Given the description of an element on the screen output the (x, y) to click on. 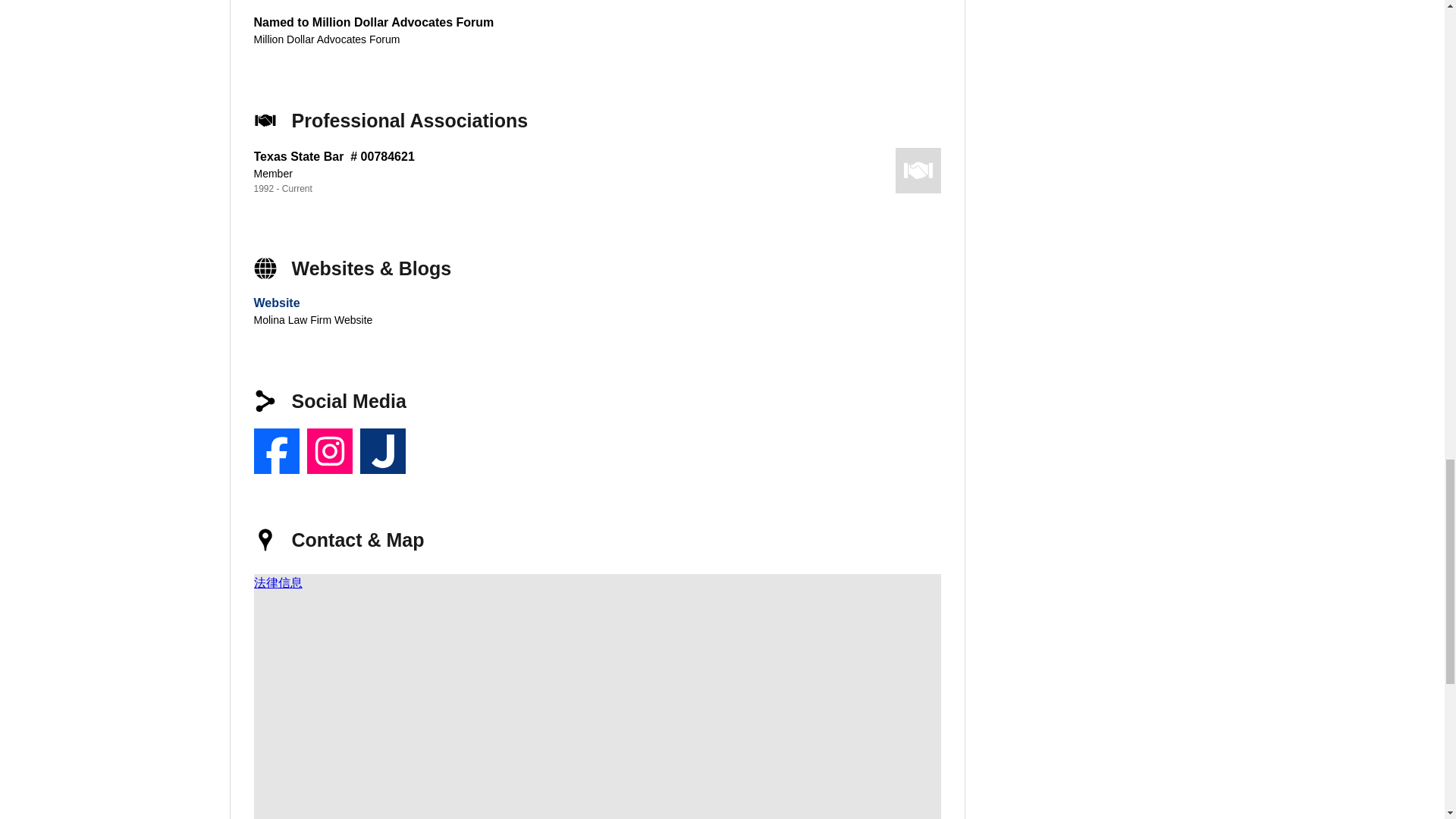
Instagram (328, 451)
Facebook (275, 451)
 Justia Profile (381, 451)
Justia Profile (381, 451)
Ricardo Molina on Instagram (328, 451)
Website (276, 302)
Ricardo Molina on Facebook (275, 451)
